Given the description of an element on the screen output the (x, y) to click on. 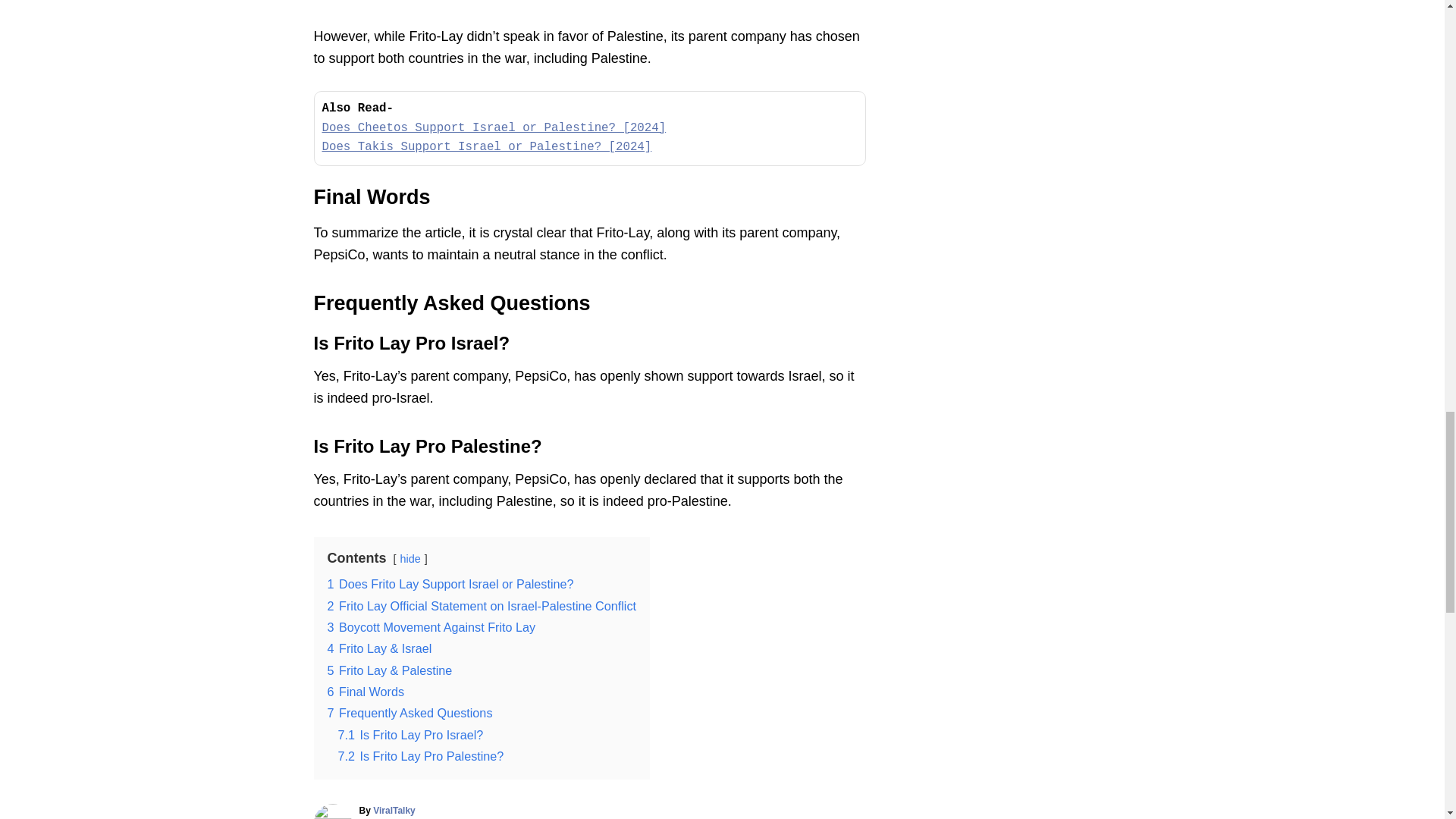
ViralTalky (393, 810)
7.1 Is Frito Lay Pro Israel? (410, 735)
7.2 Is Frito Lay Pro Palestine? (420, 755)
hide (410, 558)
1 Does Frito Lay Support Israel or Palestine? (450, 583)
2 Frito Lay Official Statement on Israel-Palestine Conflict (482, 605)
3 Boycott Movement Against Frito Lay (431, 626)
6 Final Words (365, 691)
7 Frequently Asked Questions (410, 712)
